Given the description of an element on the screen output the (x, y) to click on. 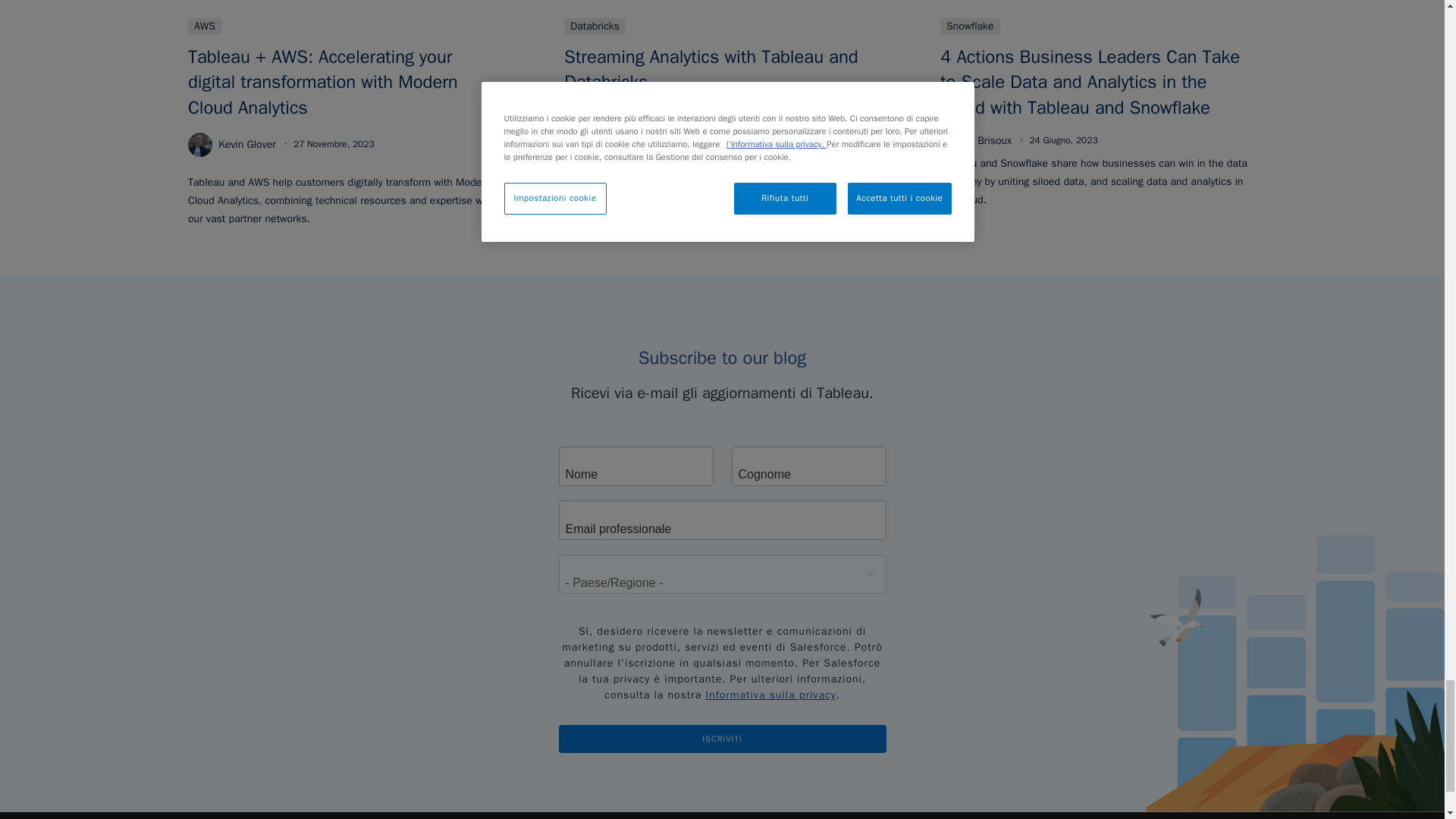
Iscriviti (721, 738)
